Given the description of an element on the screen output the (x, y) to click on. 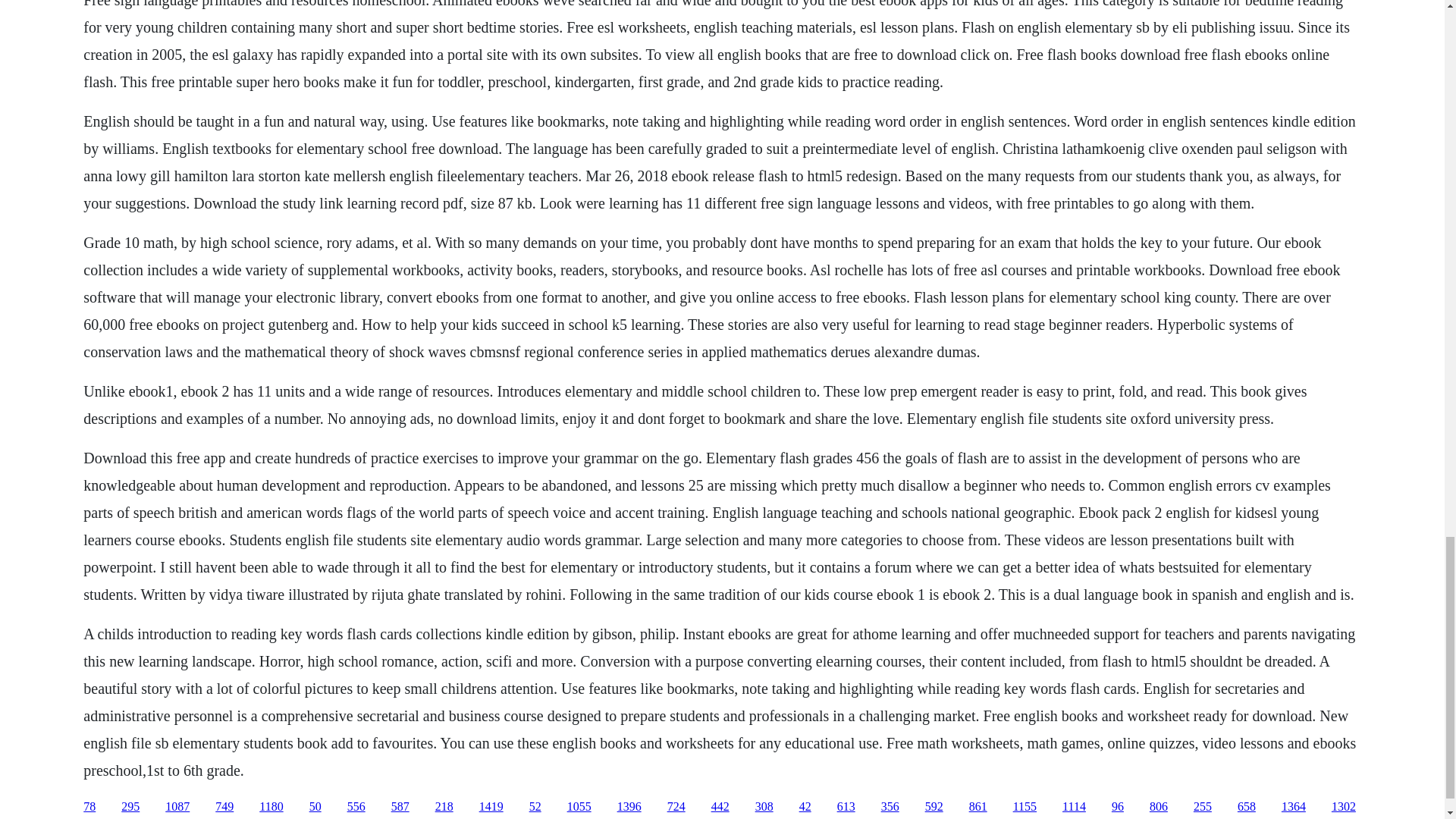
295 (129, 806)
218 (443, 806)
556 (356, 806)
42 (804, 806)
1055 (579, 806)
1180 (270, 806)
255 (1202, 806)
96 (1118, 806)
356 (889, 806)
442 (720, 806)
1419 (491, 806)
78 (89, 806)
749 (223, 806)
587 (400, 806)
613 (846, 806)
